Given the description of an element on the screen output the (x, y) to click on. 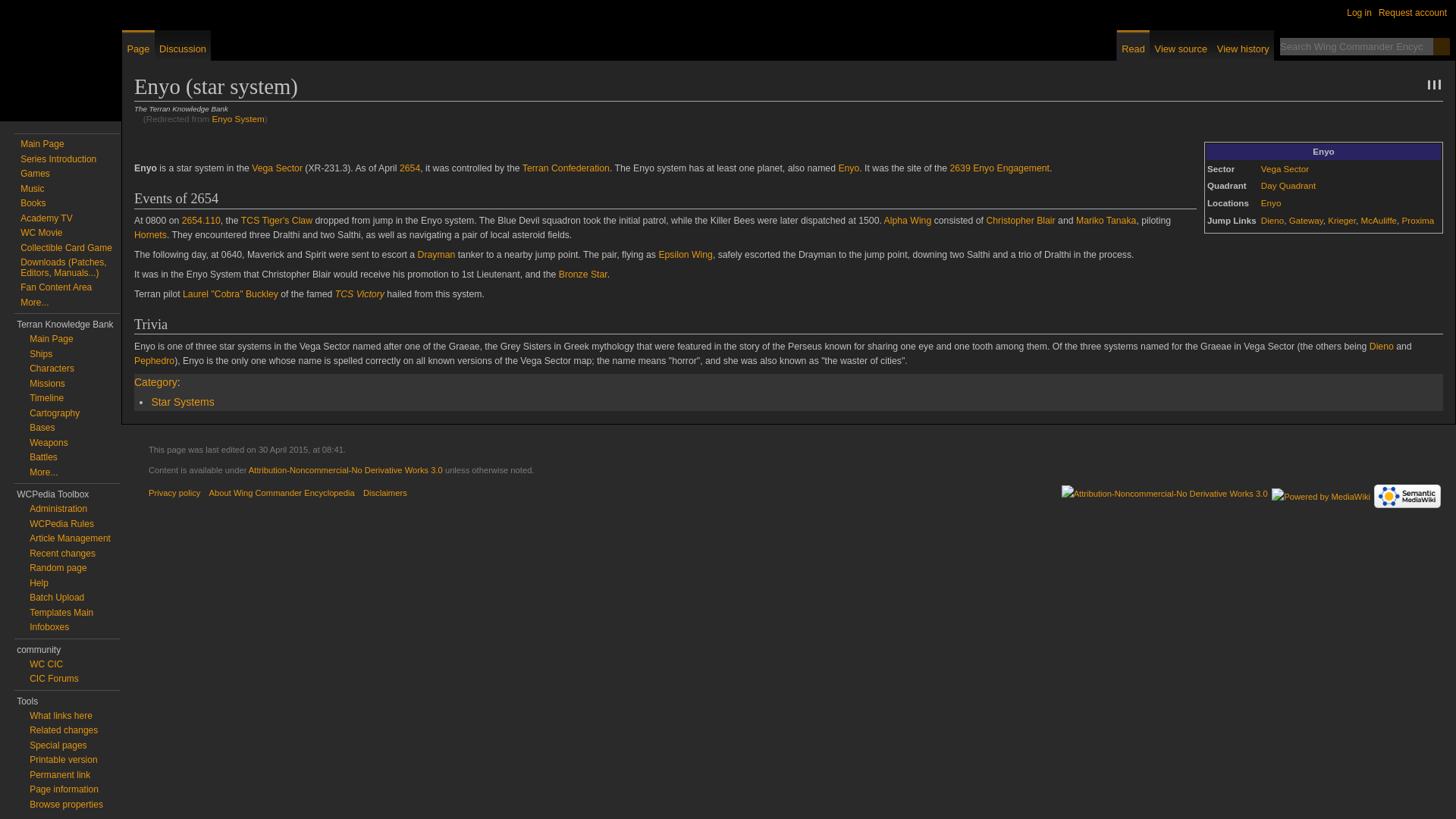
Enyo Engagement (1010, 167)
McAuliffe (1377, 220)
Dieno (1272, 220)
Vega Sector (1284, 168)
Enyo System (238, 118)
Go (1441, 45)
2639 (959, 167)
Enyo (848, 167)
Drayman (436, 254)
Terran Confederation (566, 167)
